Given the description of an element on the screen output the (x, y) to click on. 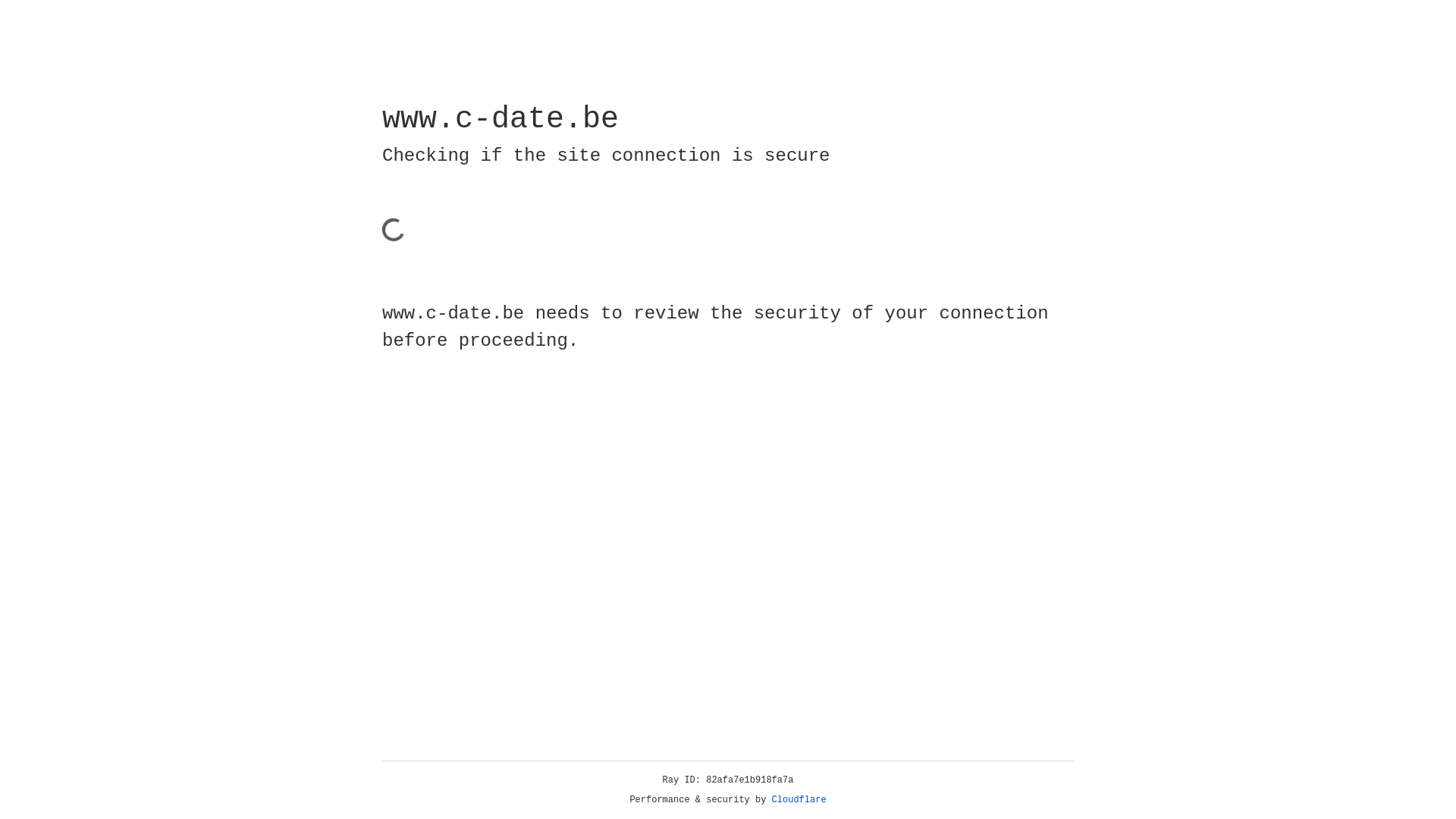
Cloudflare Element type: text (798, 799)
